Given the description of an element on the screen output the (x, y) to click on. 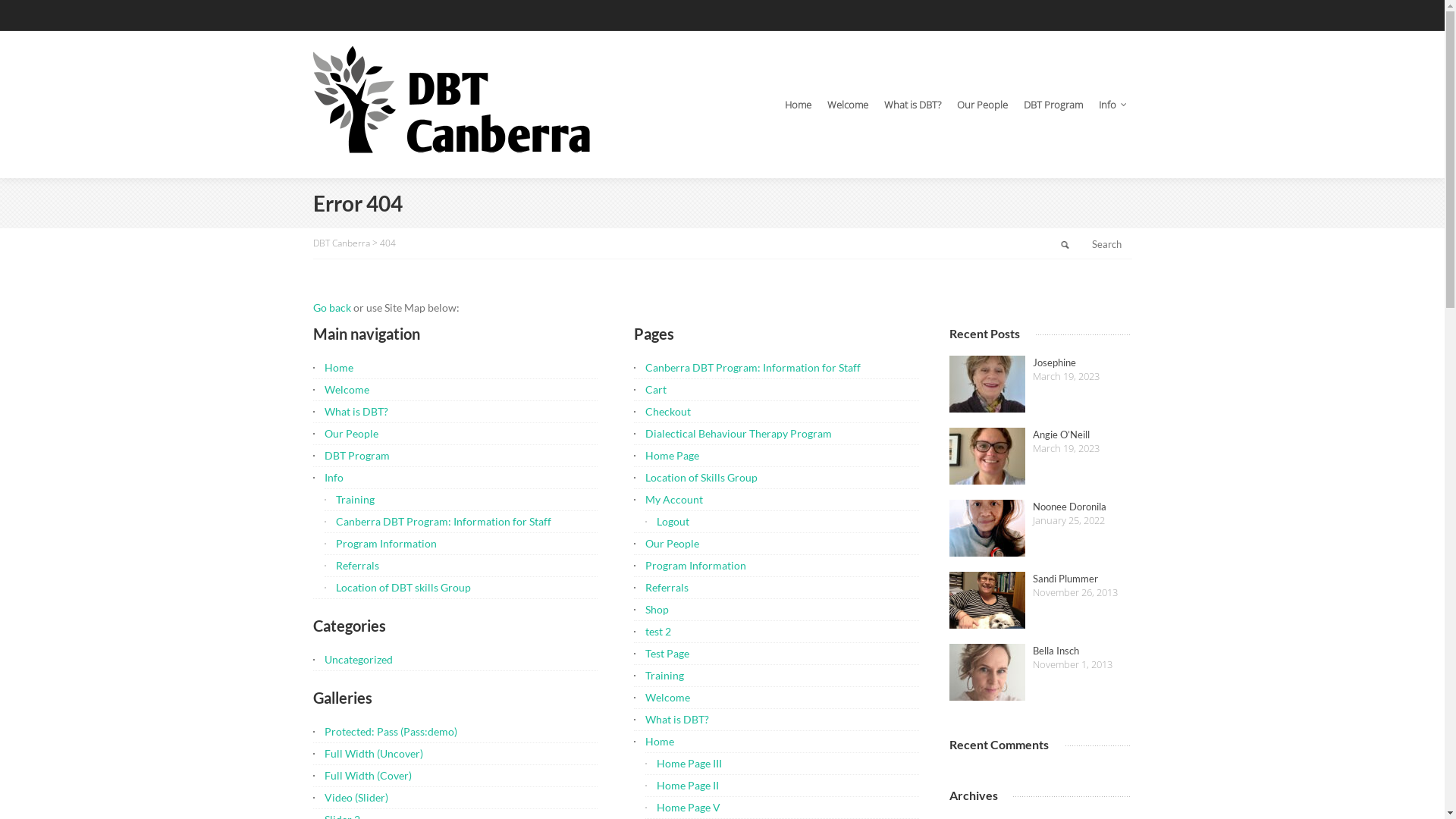
What is DBT? Element type: text (912, 104)
Dialectical Behaviour Therapy Program Element type: text (738, 432)
Referrals Element type: text (666, 586)
Cart Element type: text (655, 388)
Josephine Element type: hover (987, 383)
Welcome Element type: text (847, 104)
Logout Element type: text (672, 520)
Protected: Pass (Pass:demo) Element type: text (390, 730)
Our People Element type: text (982, 104)
Our People Element type: text (672, 542)
Home Page II Element type: text (687, 784)
Uncategorized Element type: text (358, 658)
DBT Canberra Element type: hover (452, 104)
Noonee Doronila Element type: text (1040, 506)
Noonee Doronila Element type: hover (987, 527)
DBT Program Element type: text (356, 454)
Program Information Element type: text (695, 564)
Home Element type: text (797, 104)
Video (Slider) Element type: text (356, 796)
Home Page V Element type: text (688, 806)
Bella Insch Element type: hover (987, 671)
  Element type: text (1064, 244)
My Account Element type: text (673, 498)
Skip to secondary content Element type: text (664, 99)
Our People Element type: text (351, 432)
Welcome Element type: text (346, 388)
Full Width (Uncover) Element type: text (373, 752)
Training Element type: text (664, 674)
test 2 Element type: text (658, 630)
DBT Canberra Element type: text (340, 242)
Shop Element type: text (656, 608)
Bella Insch Element type: text (1040, 650)
Canberra DBT Program: Information for Staff Element type: text (442, 520)
Canberra DBT Program: Information for Staff Element type: text (752, 366)
Location of DBT skills Group Element type: text (402, 586)
Info Element type: text (333, 476)
Training Element type: text (354, 498)
Welcome Element type: text (667, 696)
Test Page Element type: text (667, 652)
Sandi Plummer Element type: text (1040, 578)
Location of Skills Group Element type: text (701, 476)
Program Information Element type: text (385, 542)
Referrals Element type: text (356, 564)
Go back Element type: text (331, 307)
DBT Program Element type: text (1053, 104)
Josephine Element type: text (1040, 362)
What is DBT? Element type: text (677, 718)
Home Page III Element type: text (688, 762)
Search Element type: hover (1064, 244)
Sandi Plummer Element type: hover (987, 599)
Home Page Element type: text (672, 454)
Home Element type: text (338, 366)
What is DBT? Element type: text (356, 410)
Full Width (Cover) Element type: text (367, 774)
Info Element type: text (1110, 104)
Checkout Element type: text (667, 410)
Home Element type: text (659, 740)
Skip to primary content Element type: text (657, 99)
